Given the description of an element on the screen output the (x, y) to click on. 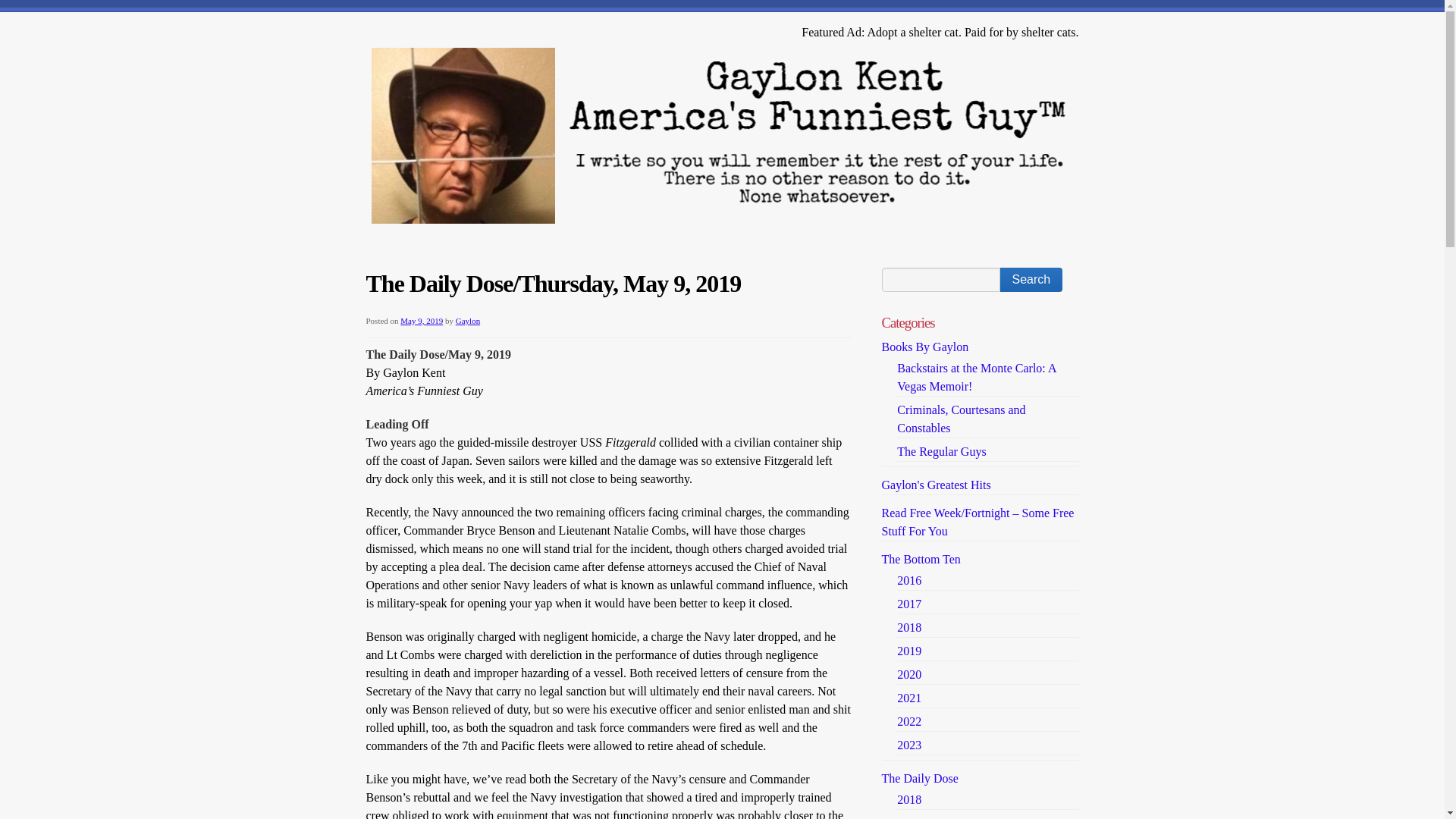
Search (1030, 279)
Gaylon (467, 320)
Gaylon's Greatest Hits (935, 484)
2019 (908, 650)
2018 (908, 626)
2017 (908, 603)
May 9, 2019 (421, 320)
The Regular Guys (940, 451)
The Daily Dose (919, 778)
2021 (908, 697)
